Given the description of an element on the screen output the (x, y) to click on. 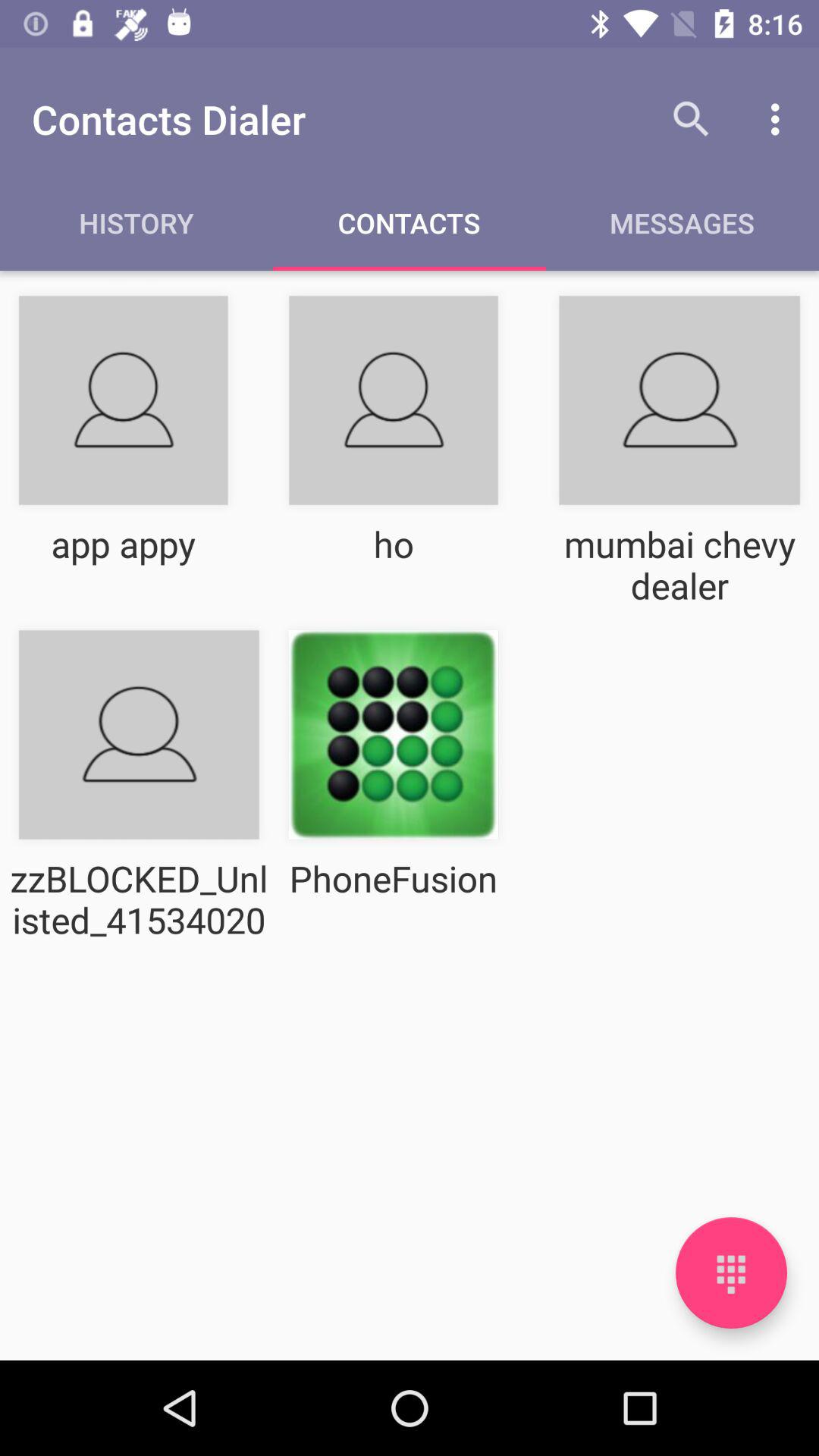
choose the icon at the bottom right corner (731, 1272)
